Given the description of an element on the screen output the (x, y) to click on. 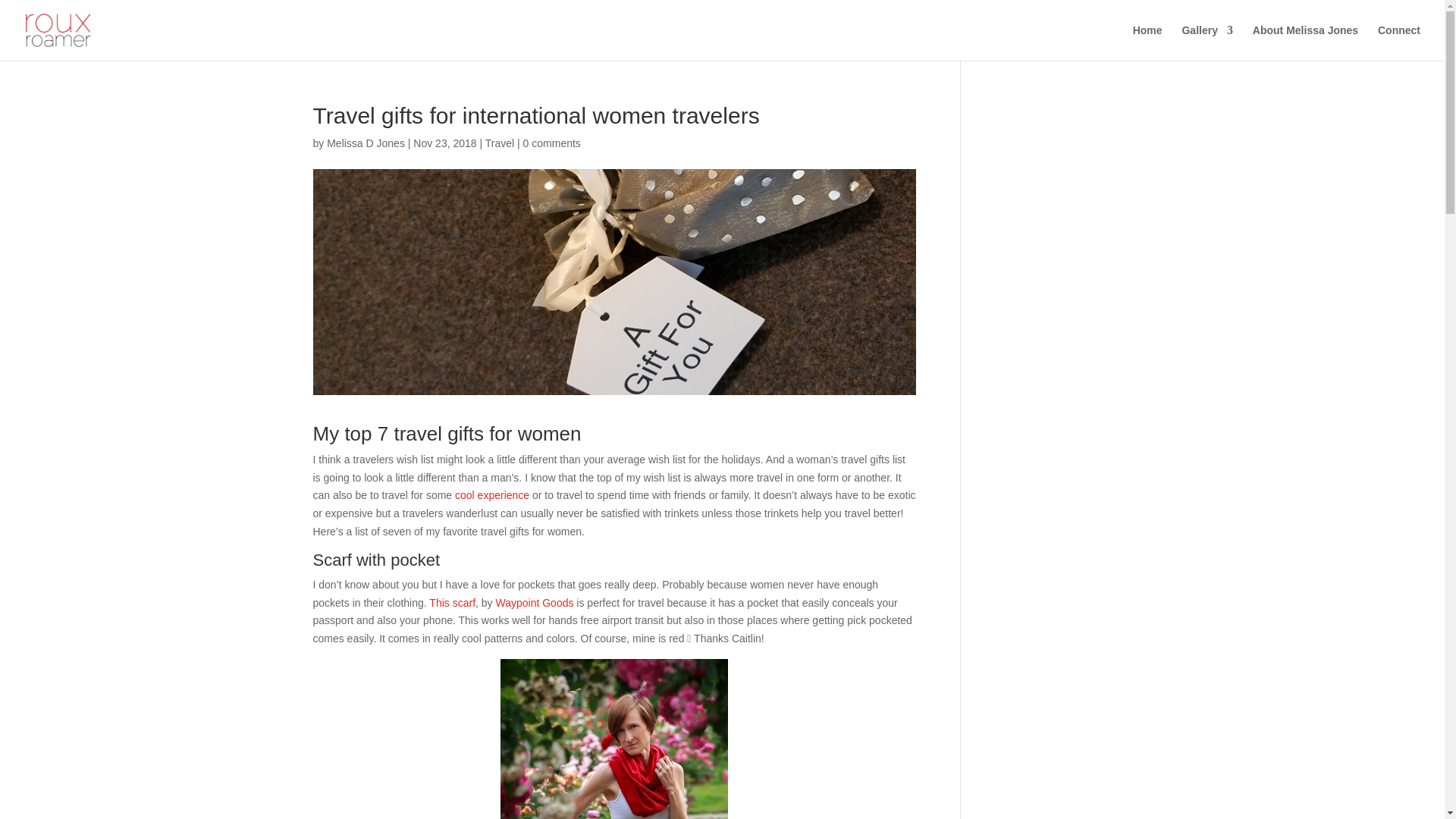
Gallery (1205, 42)
About Melissa Jones (1305, 42)
Travel (498, 143)
Waypoint Goods (534, 603)
0 comments (551, 143)
Melissa D Jones (365, 143)
Connect (1399, 42)
cool experience (491, 494)
This scarf (452, 603)
Posts by Melissa D Jones (365, 143)
